Given the description of an element on the screen output the (x, y) to click on. 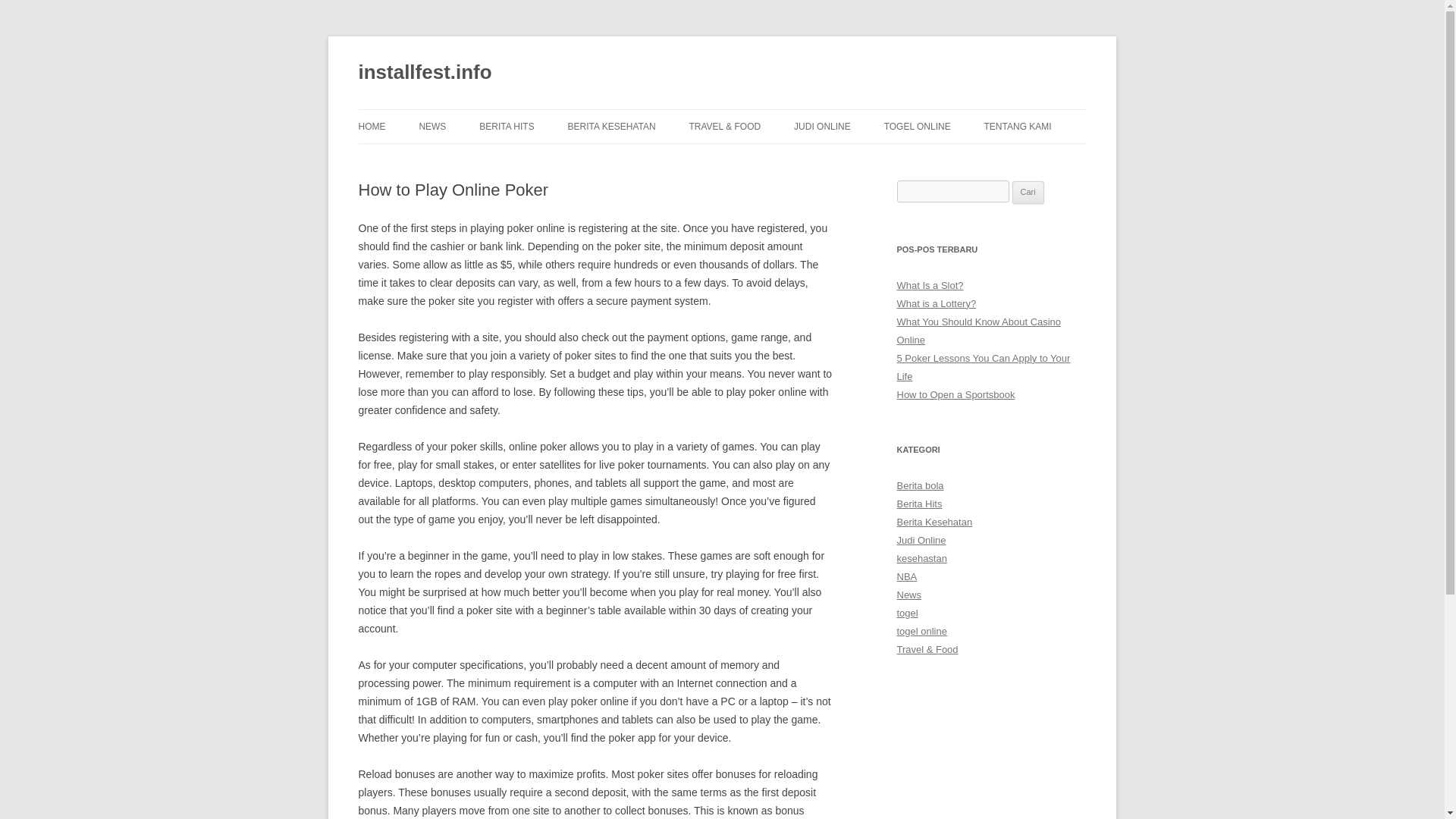
togel (906, 613)
Judi Online (920, 540)
togel online (921, 631)
Berita Hits (919, 503)
Berita Kesehatan (934, 521)
kesehastan (921, 558)
Cari (1027, 191)
TENTANG KAMI (1017, 126)
What Is a Slot? (929, 285)
NBA (906, 576)
